Given the description of an element on the screen output the (x, y) to click on. 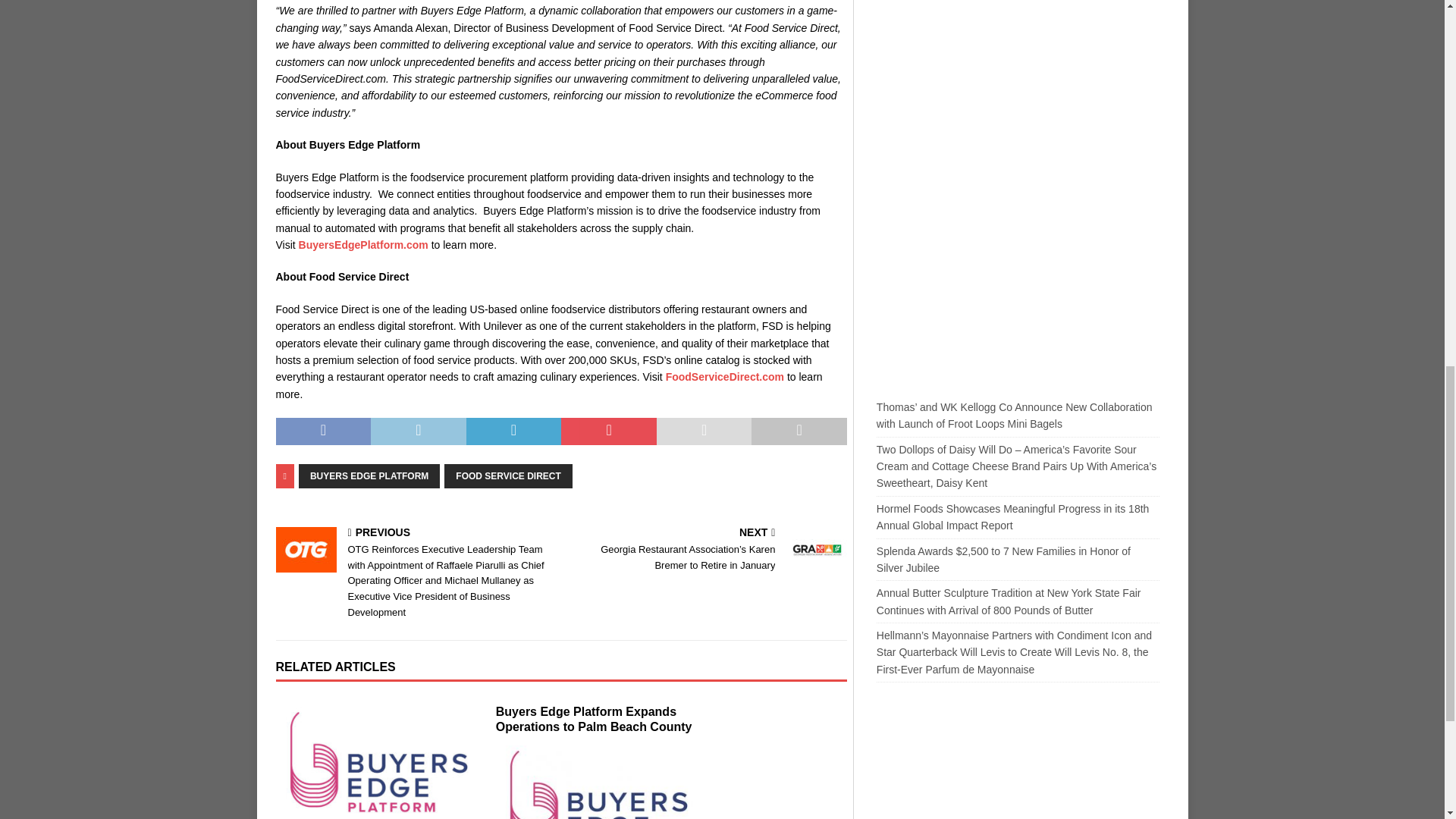
Buyers Edge Platform Expands Operations to Palm Beach County (594, 719)
Buyers Edge Platform Partners with Schenck Foods (598, 777)
BuyersEdgePlatform.com (363, 244)
BUYERS EDGE PLATFORM (368, 476)
FOOD SERVICE DIRECT (508, 476)
FoodServiceDirect.com (724, 377)
